Given the description of an element on the screen output the (x, y) to click on. 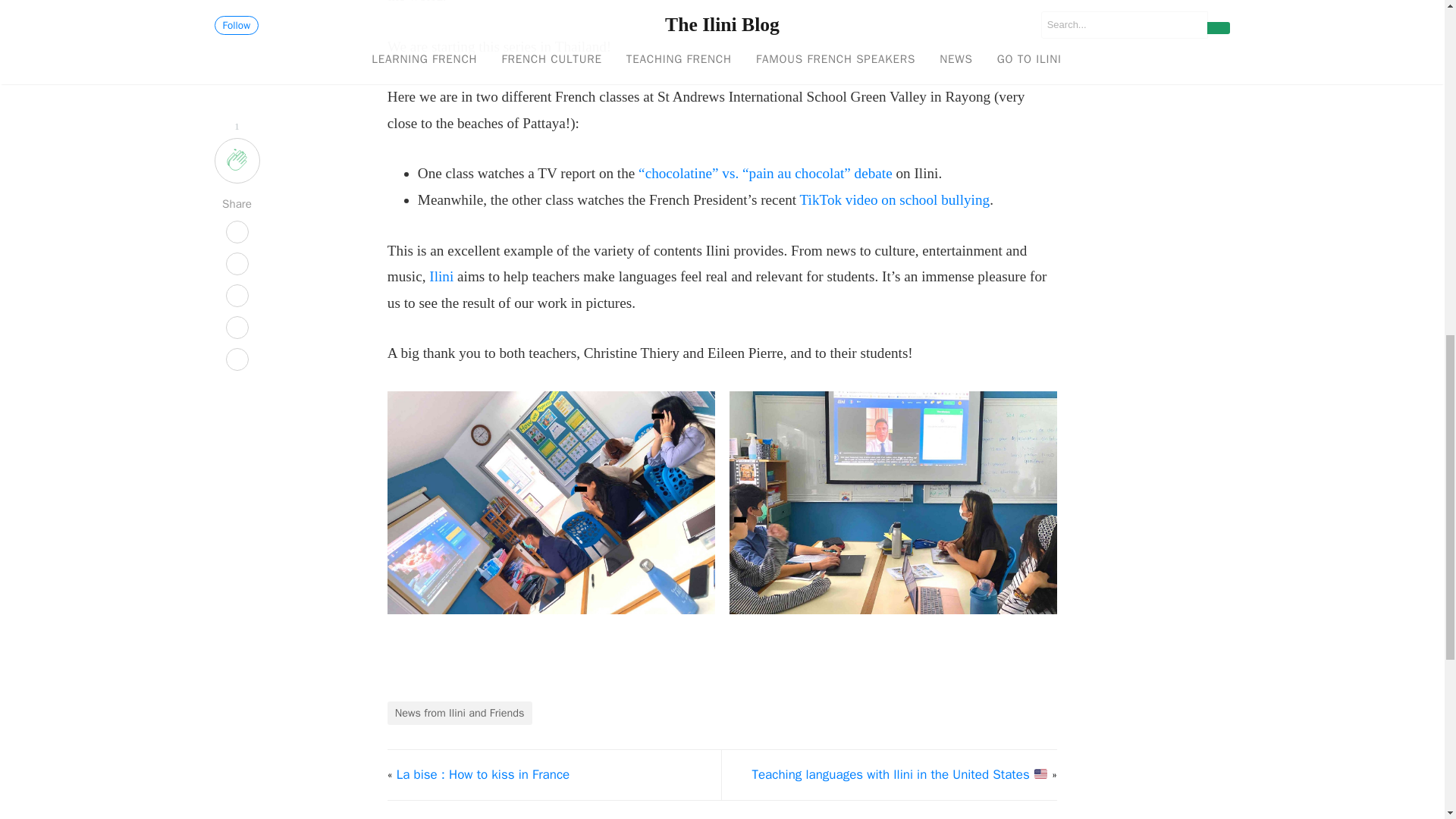
TikTok video on school bullying (894, 199)
Ilini (440, 276)
News from Ilini and Friends (459, 713)
La bise : How to kiss in France (483, 774)
Teaching languages with Ilini in the United States (899, 774)
